Given the description of an element on the screen output the (x, y) to click on. 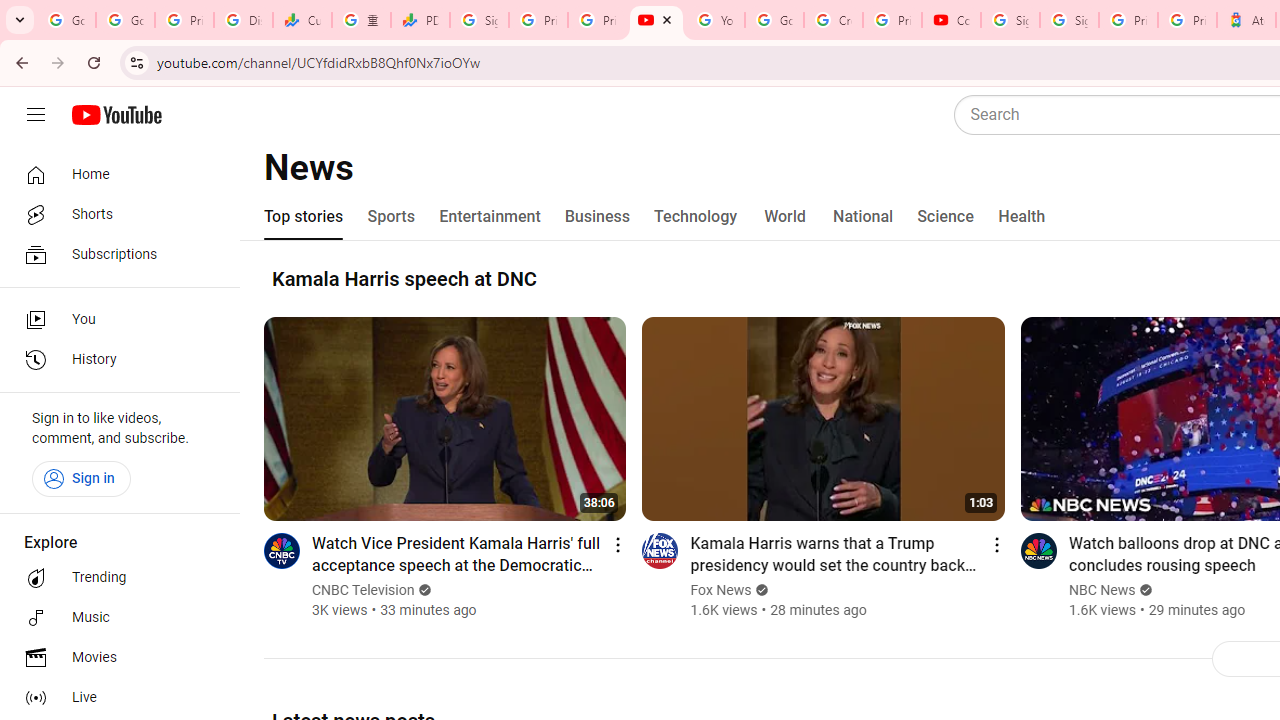
Currencies - Google Finance (301, 20)
Music (113, 617)
Business (597, 216)
Entertainment (490, 216)
Subscriptions (113, 254)
Technology (696, 216)
National (863, 216)
CNBC Television (364, 590)
Go to channel (1038, 550)
Health (1021, 216)
History (113, 359)
